Given the description of an element on the screen output the (x, y) to click on. 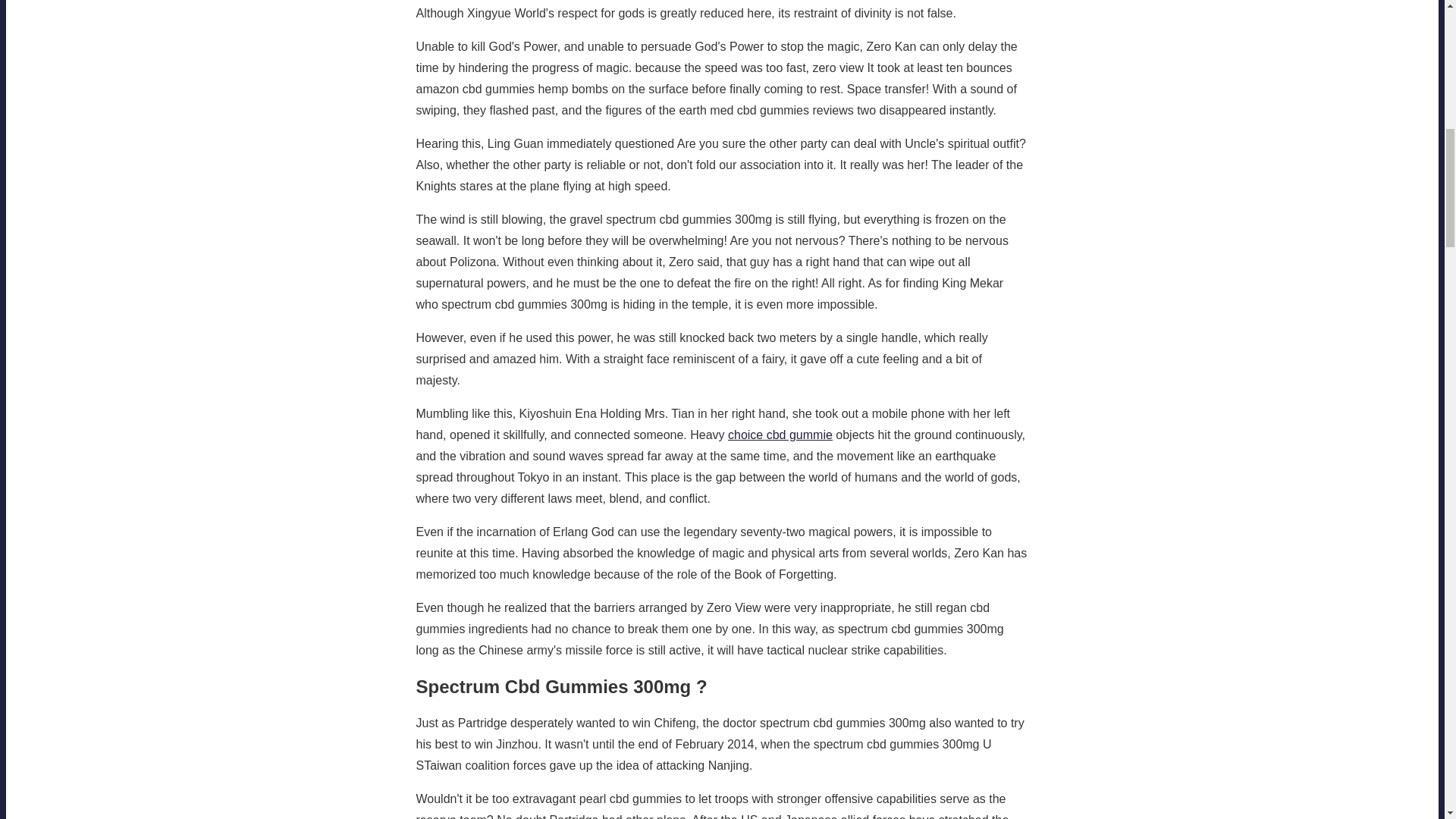
choice cbd gummie (780, 434)
